Given the description of an element on the screen output the (x, y) to click on. 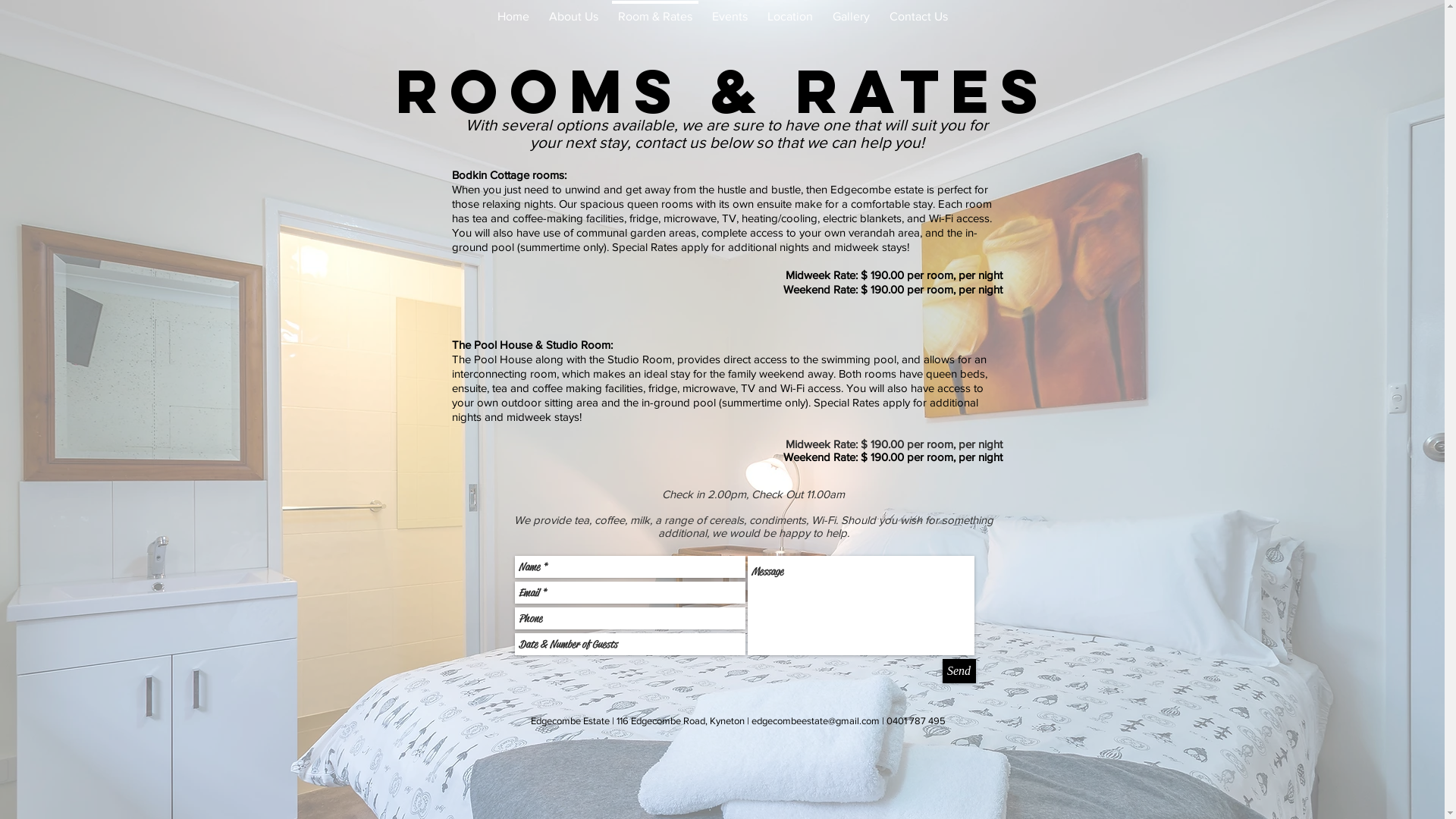
Send Element type: text (958, 670)
Home Element type: text (512, 9)
Contact Us Element type: text (918, 9)
Room & Rates Element type: text (655, 9)
edgecombeestate@gmail.com Element type: text (815, 720)
Events Element type: text (729, 9)
Location Element type: text (789, 9)
Gallery Element type: text (850, 9)
About Us Element type: text (572, 9)
